Given the description of an element on the screen output the (x, y) to click on. 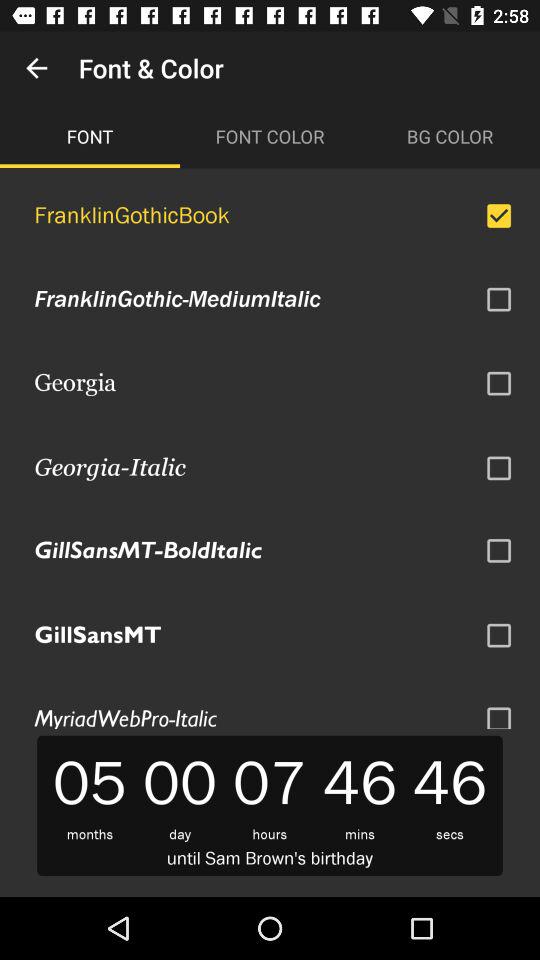
select the icon to the left of the font & color (36, 68)
